Given the description of an element on the screen output the (x, y) to click on. 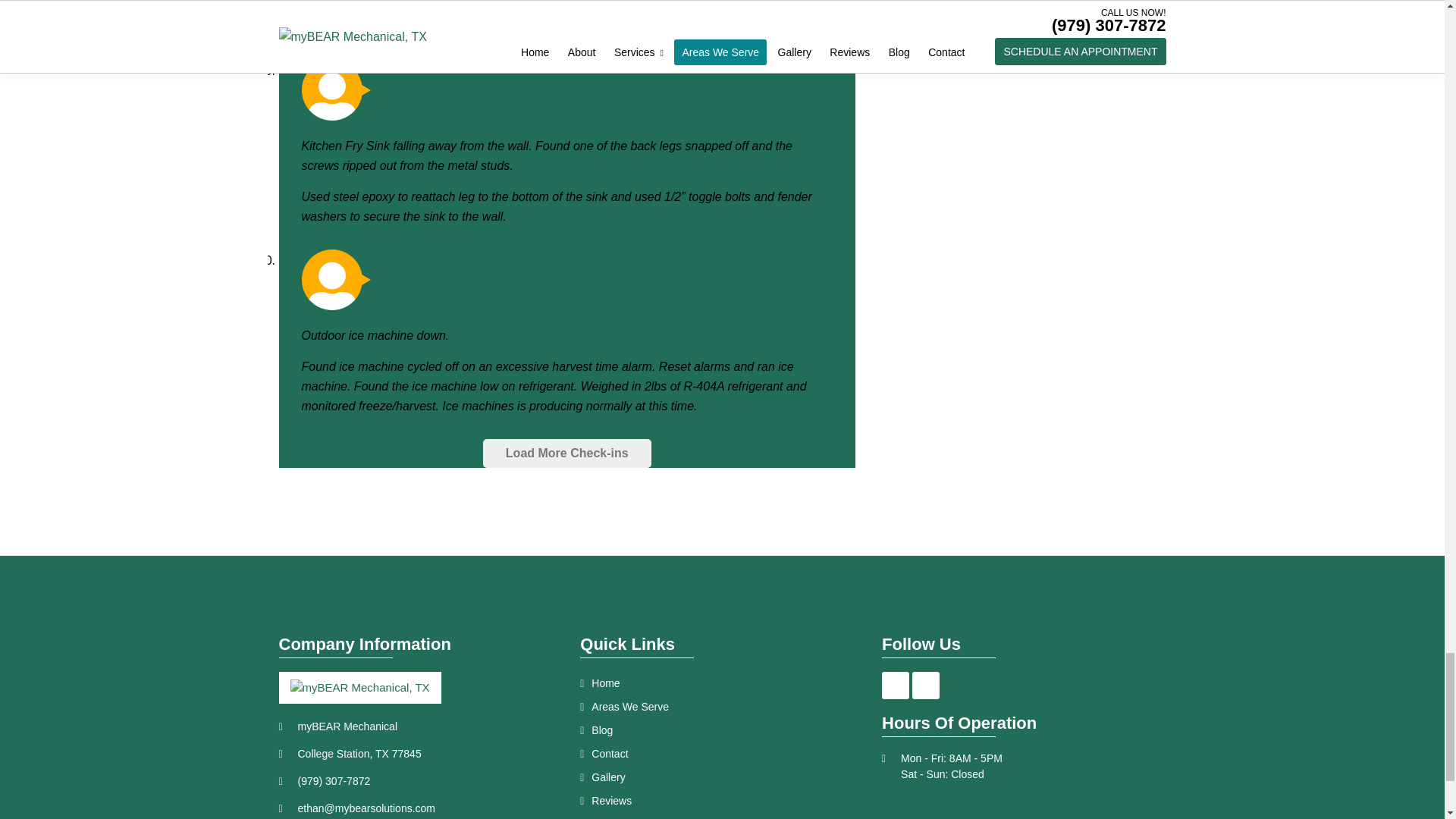
Gallery (721, 777)
Blog (721, 730)
Home (721, 683)
Areas We Serve (336, 90)
Areas We Serve (721, 707)
Reviews (721, 801)
Load More Check-ins (566, 452)
Sitemap (721, 816)
Contact (721, 753)
